Given the description of an element on the screen output the (x, y) to click on. 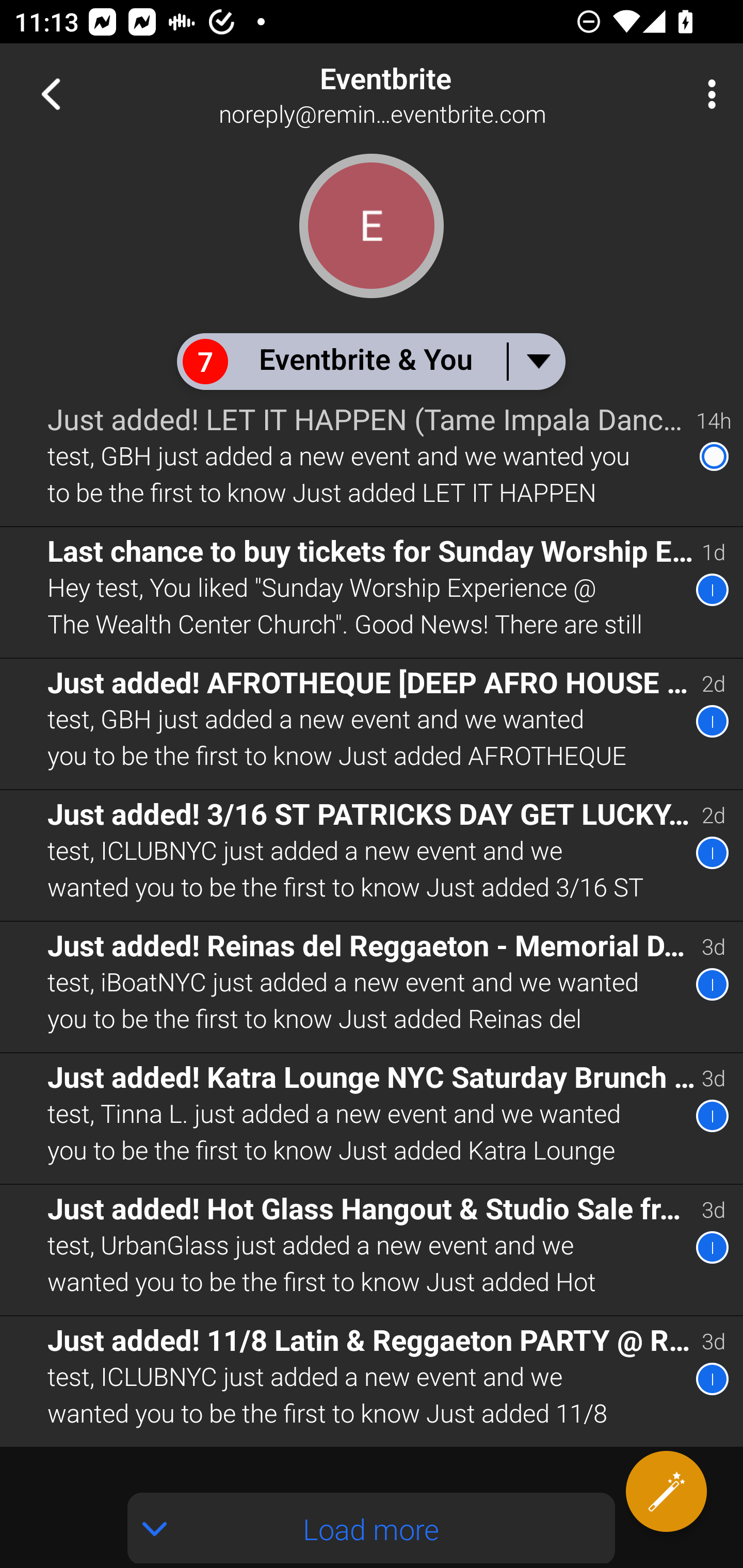
Navigate up (50, 93)
Eventbrite noreply@reminder.eventbrite.com (436, 93)
More Options (706, 93)
7 Eventbrite & You (370, 361)
Load more (371, 1527)
